Given the description of an element on the screen output the (x, y) to click on. 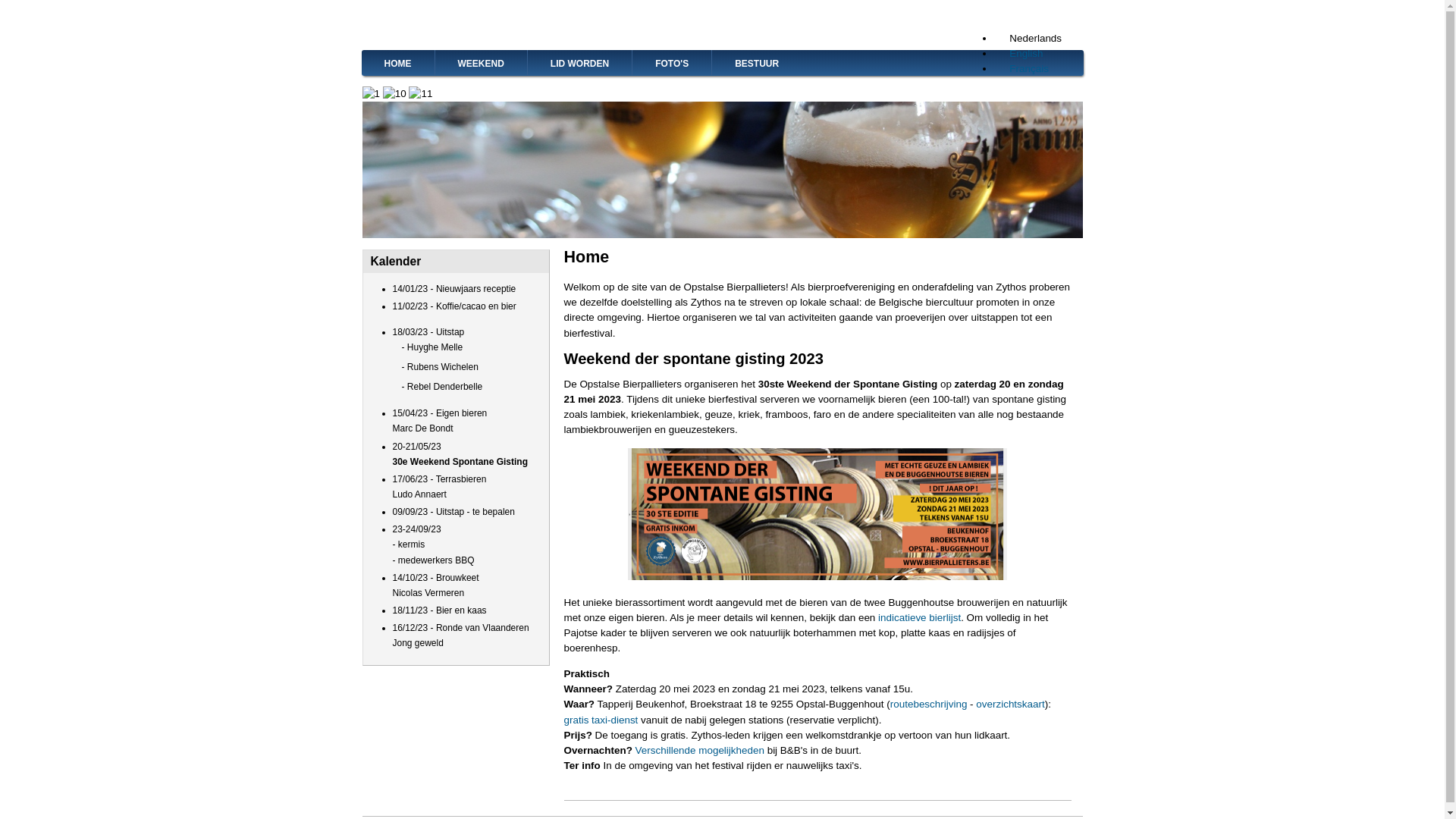
LID WORDEN Element type: text (579, 62)
Overslaan en naar de inhoud gaan Element type: text (0, 0)
HOME Element type: text (396, 62)
English Element type: text (1018, 53)
indicatieve bierlijst Element type: text (919, 617)
FOTO'S Element type: text (671, 62)
routebeschrijving Element type: text (928, 703)
Verschillende mogelijkheden Element type: text (699, 750)
Nederlands Element type: text (1027, 37)
overzichtskaart Element type: text (1009, 703)
gratis taxi-dienst Element type: text (601, 719)
BESTUUR Element type: text (756, 62)
WEEKEND Element type: text (481, 62)
